Given the description of an element on the screen output the (x, y) to click on. 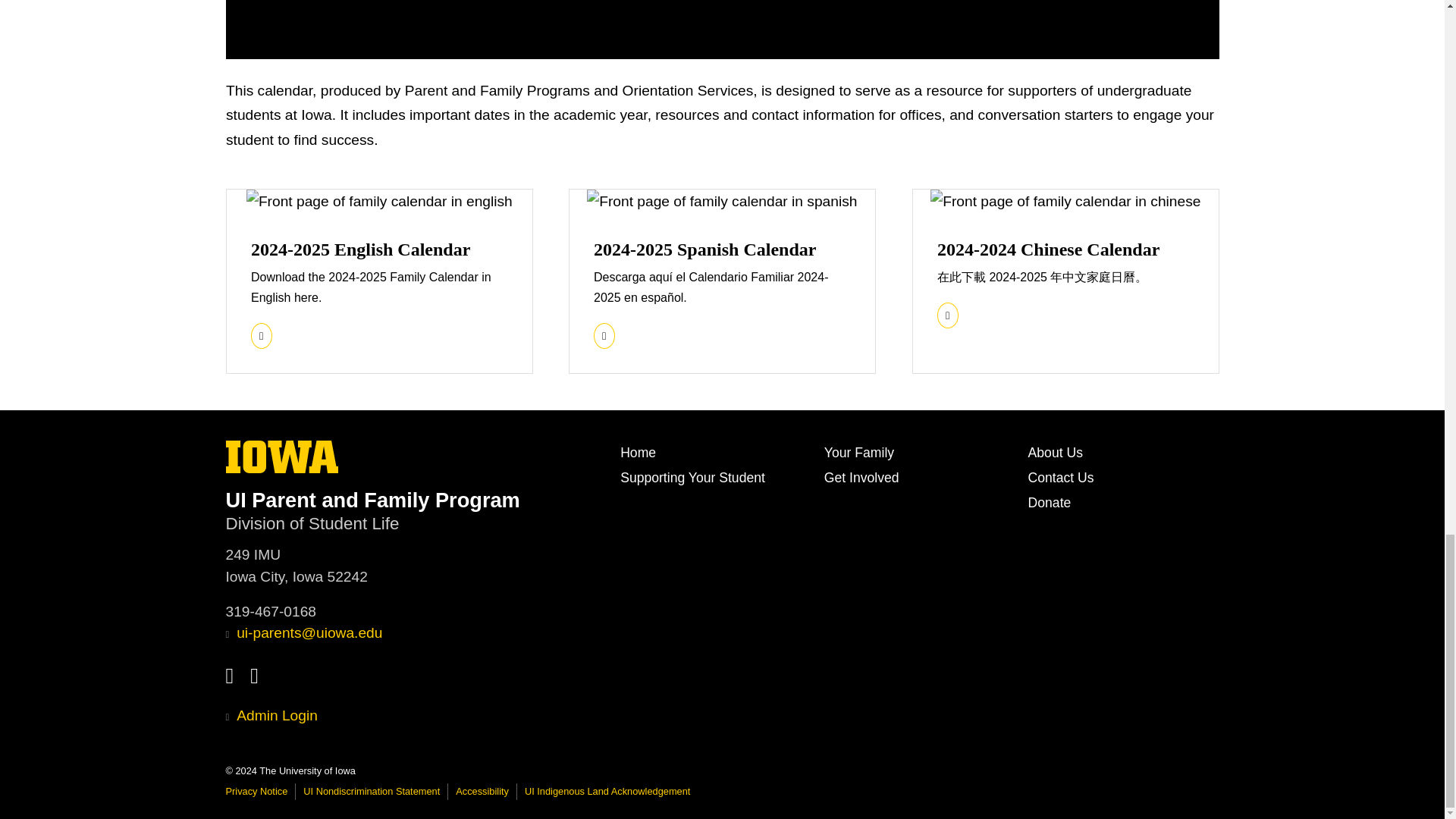
University of Iowa (282, 456)
2024-2025 English Calendar (359, 249)
2024-2025 Spanish Calendar (704, 249)
